Given the description of an element on the screen output the (x, y) to click on. 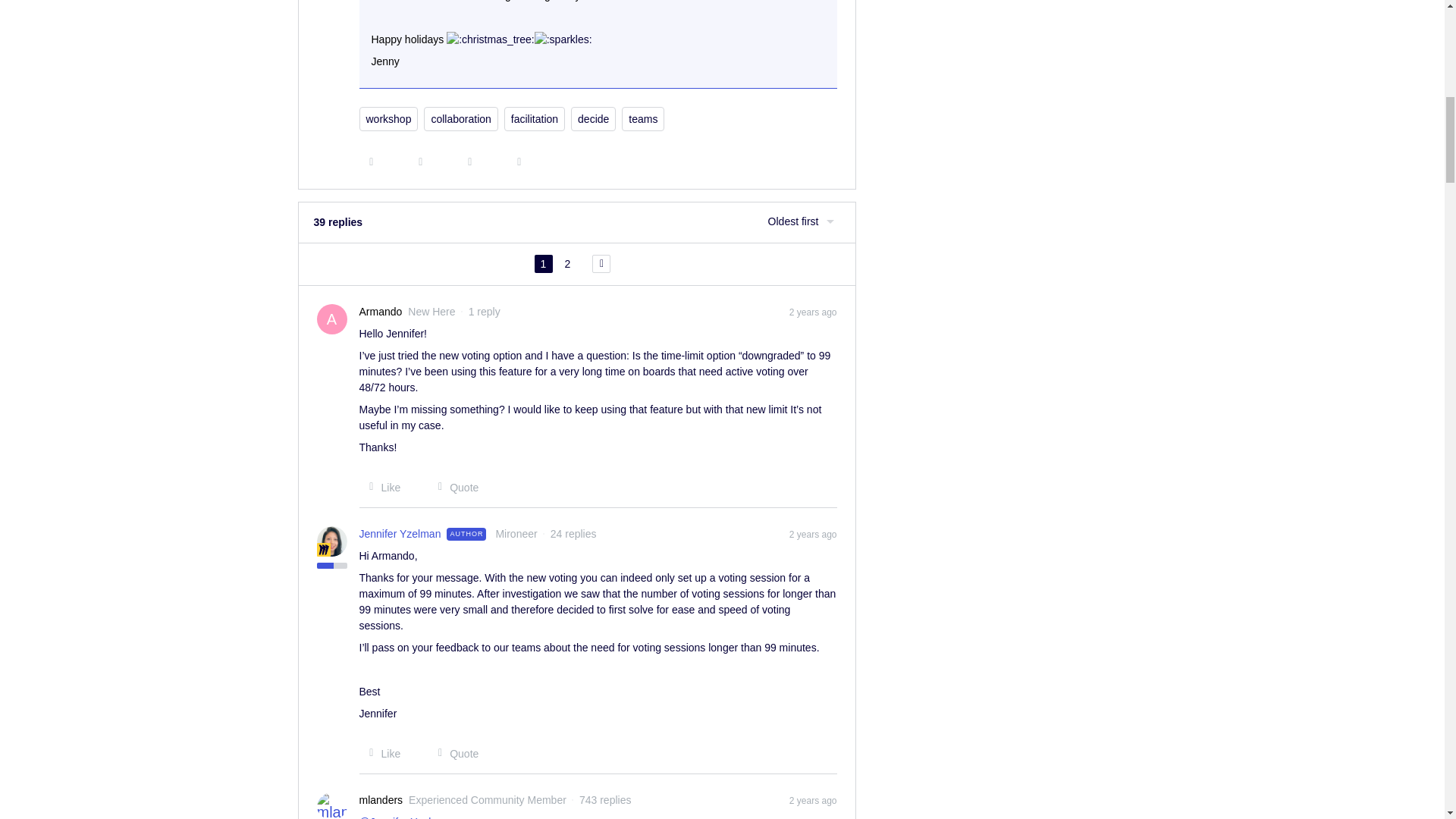
workshop (389, 119)
Armando (381, 311)
mlanders (381, 800)
Mironeer (323, 549)
Quote (453, 487)
2 years ago (813, 311)
2 (566, 263)
Jennifer Yzelman (400, 534)
mlanders (381, 800)
teams (642, 119)
Like (380, 487)
A (332, 318)
2 years ago (813, 799)
facilitation (533, 119)
Quote (453, 753)
